Given the description of an element on the screen output the (x, y) to click on. 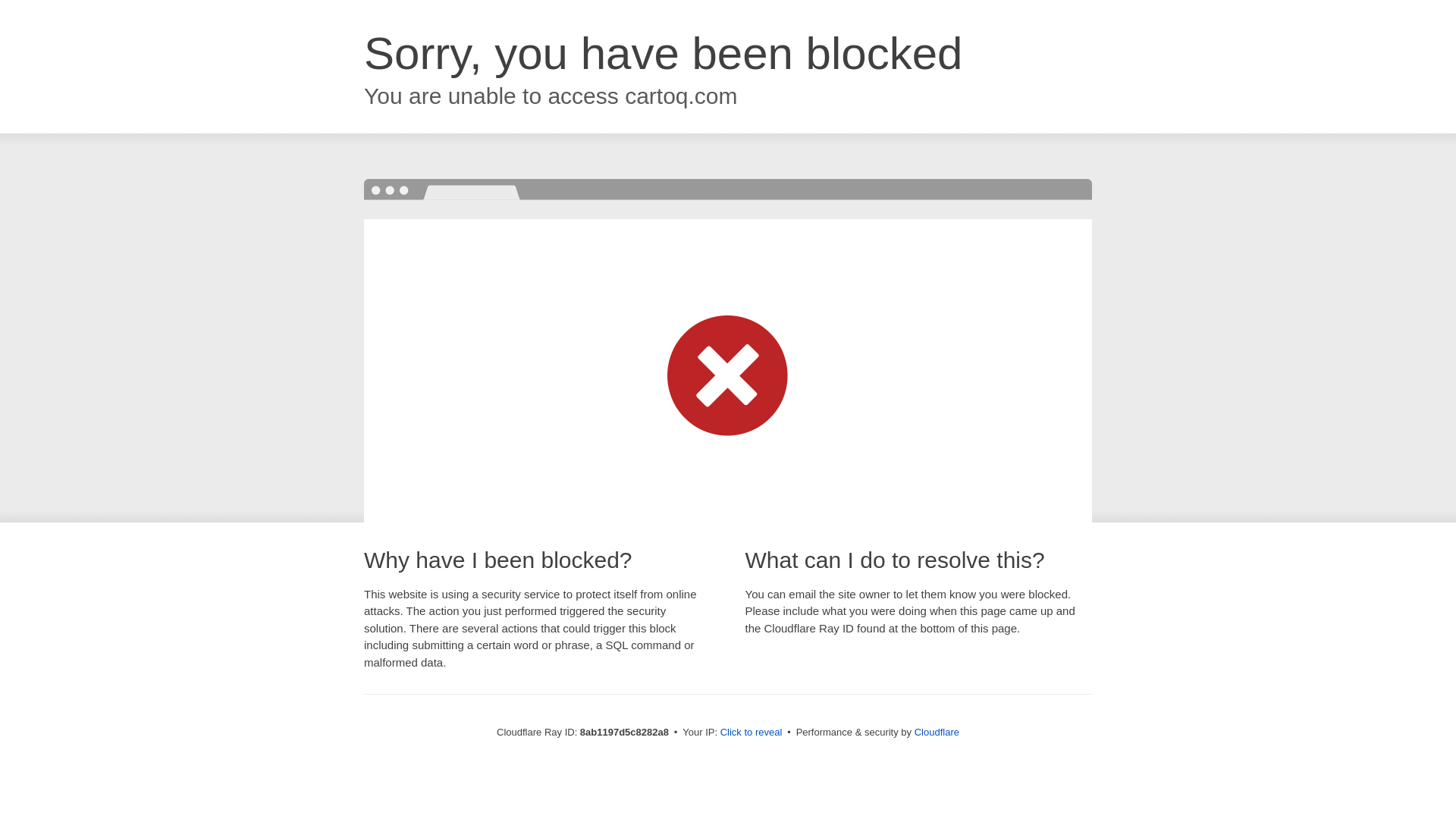
Cloudflare (936, 731)
Click to reveal (751, 732)
